Given the description of an element on the screen output the (x, y) to click on. 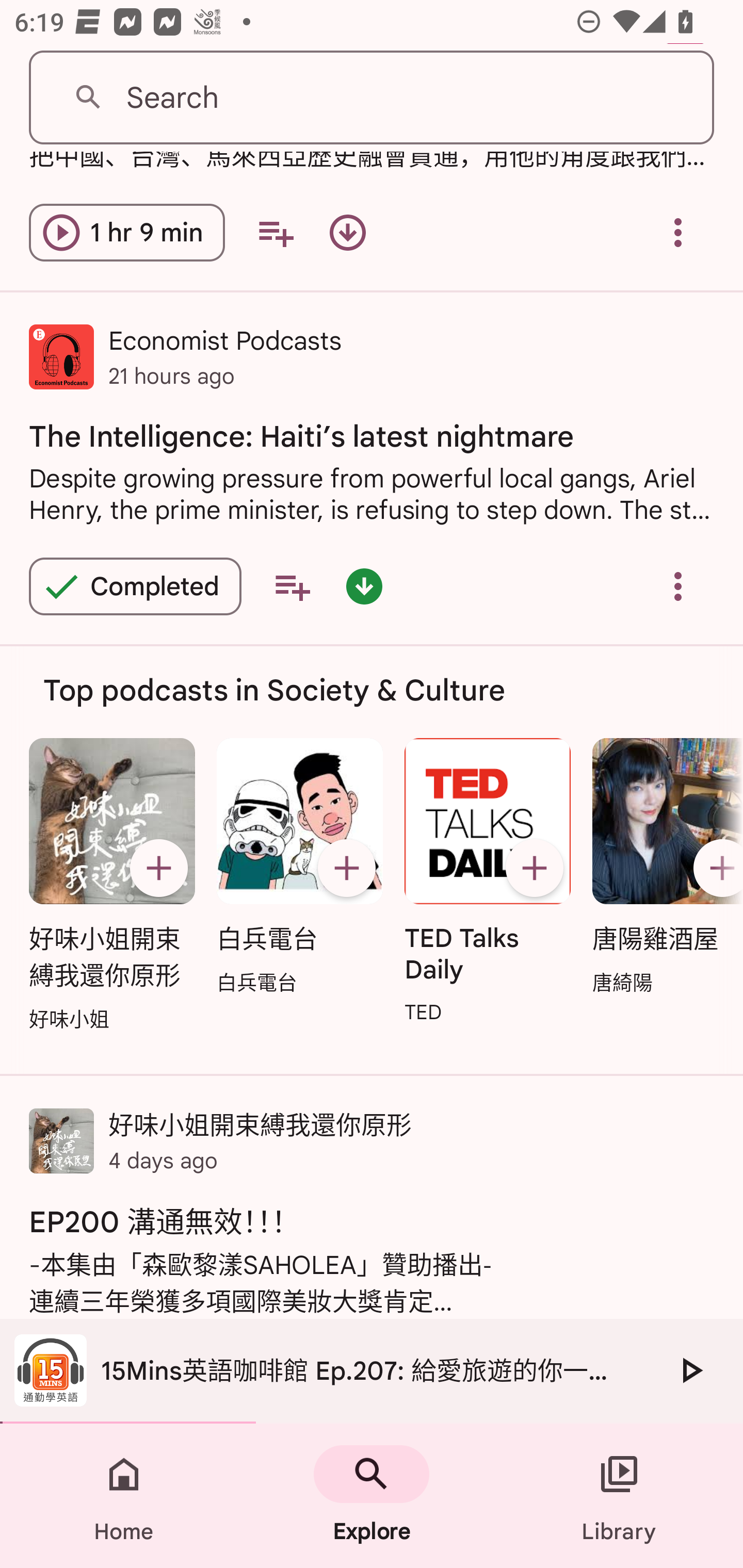
Search (371, 97)
Add to your queue (275, 232)
Download episode (347, 232)
Overflow menu (677, 232)
Add to your queue (291, 586)
Episode downloaded - double tap for options (364, 586)
Overflow menu (677, 586)
好味小姐開束縛我還你原形 Subscribe 好味小姐開束縛我還你原形 好味小姐 (111, 885)
白兵電台 Subscribe 白兵電台 白兵電台 (299, 867)
TED Talks Daily Subscribe TED Talks Daily TED (487, 882)
唐陽雞酒屋 Subscribe 唐陽雞酒屋 唐綺陽 (662, 867)
Subscribe (158, 868)
Subscribe (346, 868)
Subscribe (534, 868)
Subscribe (714, 868)
Play (690, 1370)
Home (123, 1495)
Library (619, 1495)
